Given the description of an element on the screen output the (x, y) to click on. 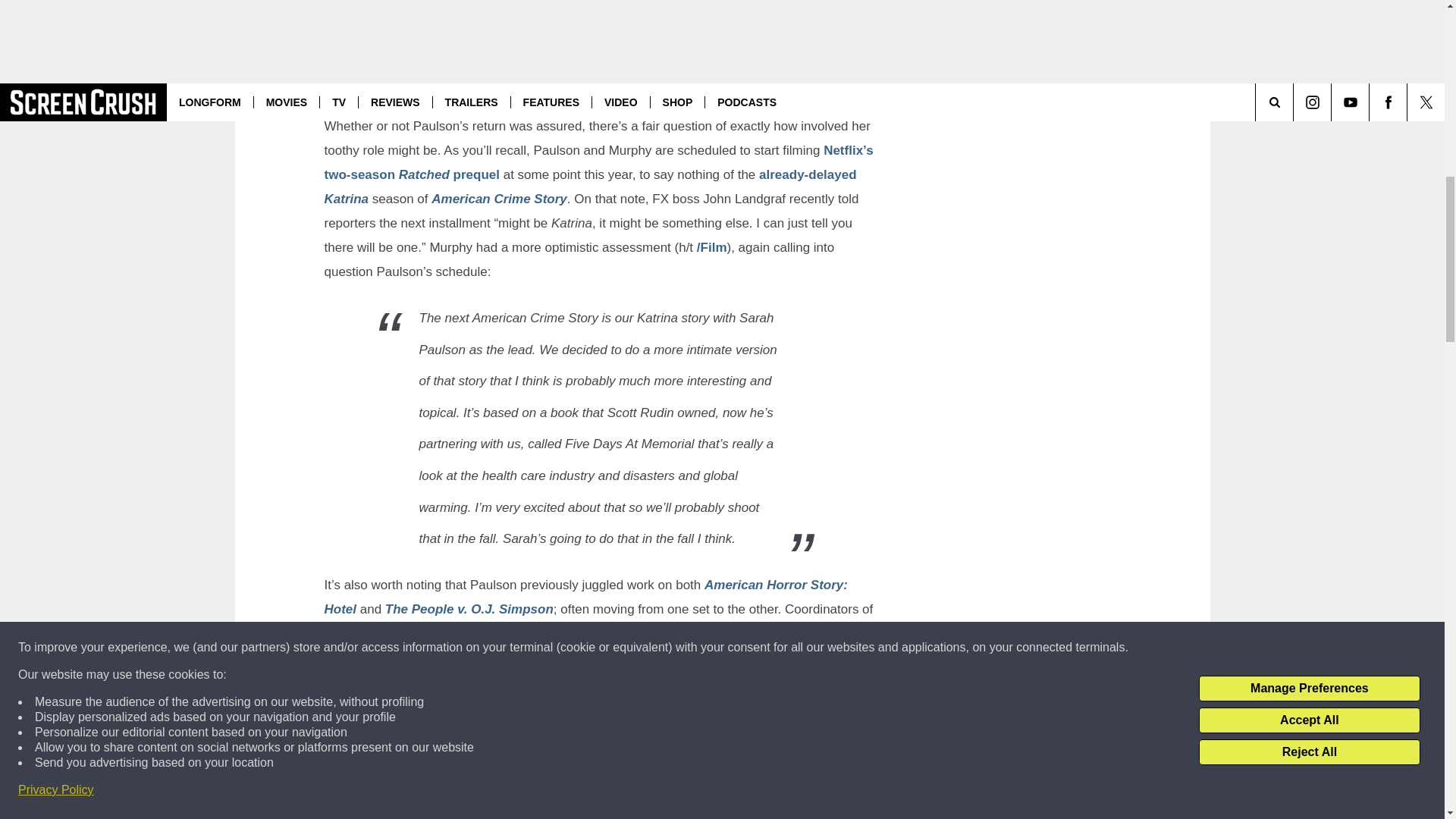
The People v. O.J. Simpson (469, 608)
American Crime Story (498, 198)
Katrina (346, 198)
Murder House and Coven crossover season (571, 669)
confirms as much with Entertainment Weekly (536, 40)
American Horror Story: Hotel (585, 597)
already-delayed (807, 174)
